Given the description of an element on the screen output the (x, y) to click on. 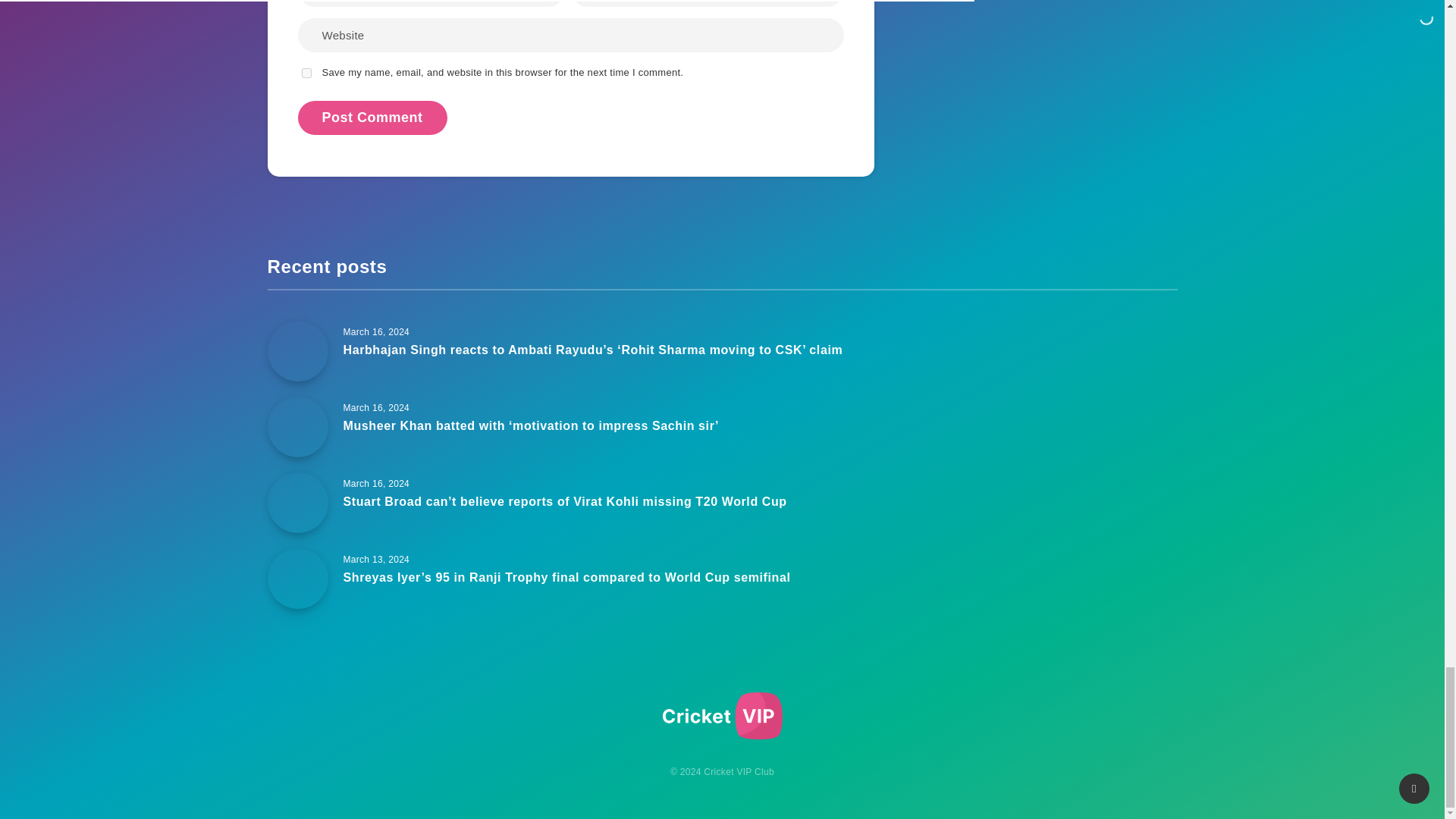
yes (306, 72)
Post Comment (371, 117)
Post Comment (371, 117)
